Given the description of an element on the screen output the (x, y) to click on. 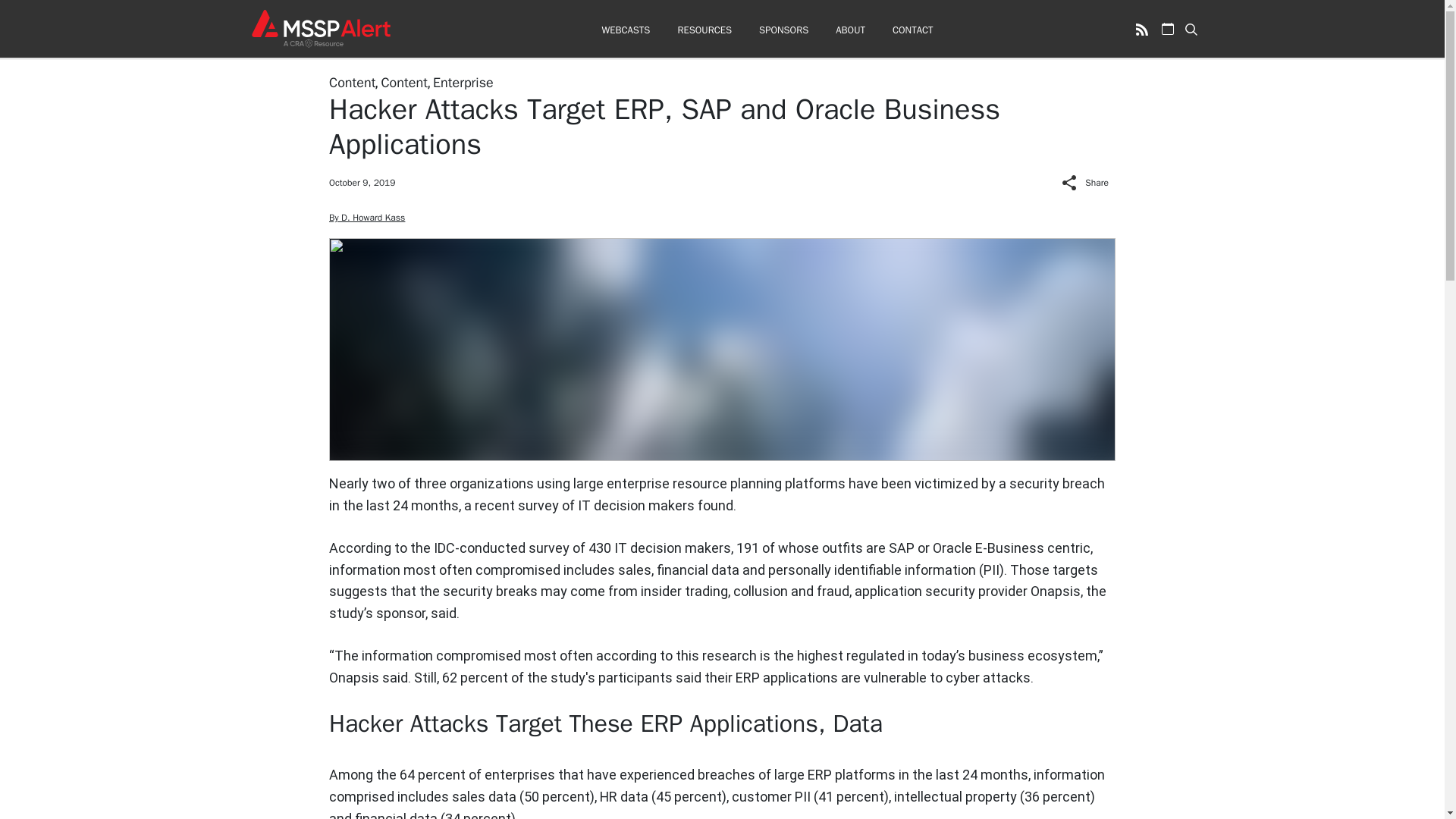
Content (352, 82)
By D. Howard Kass (366, 217)
CONTACT (912, 30)
survey (538, 505)
WEBCASTS (625, 30)
Oracle (952, 547)
MSSP Alert (319, 27)
RSS Feed for MSSP Alert Latest Articles (1141, 29)
Onapsis (1055, 590)
View Cybersecurity Conference Calendar (1167, 28)
SAP (901, 547)
RESOURCES (704, 30)
SPONSORS (783, 30)
Enterprise (462, 82)
Content (403, 82)
